Given the description of an element on the screen output the (x, y) to click on. 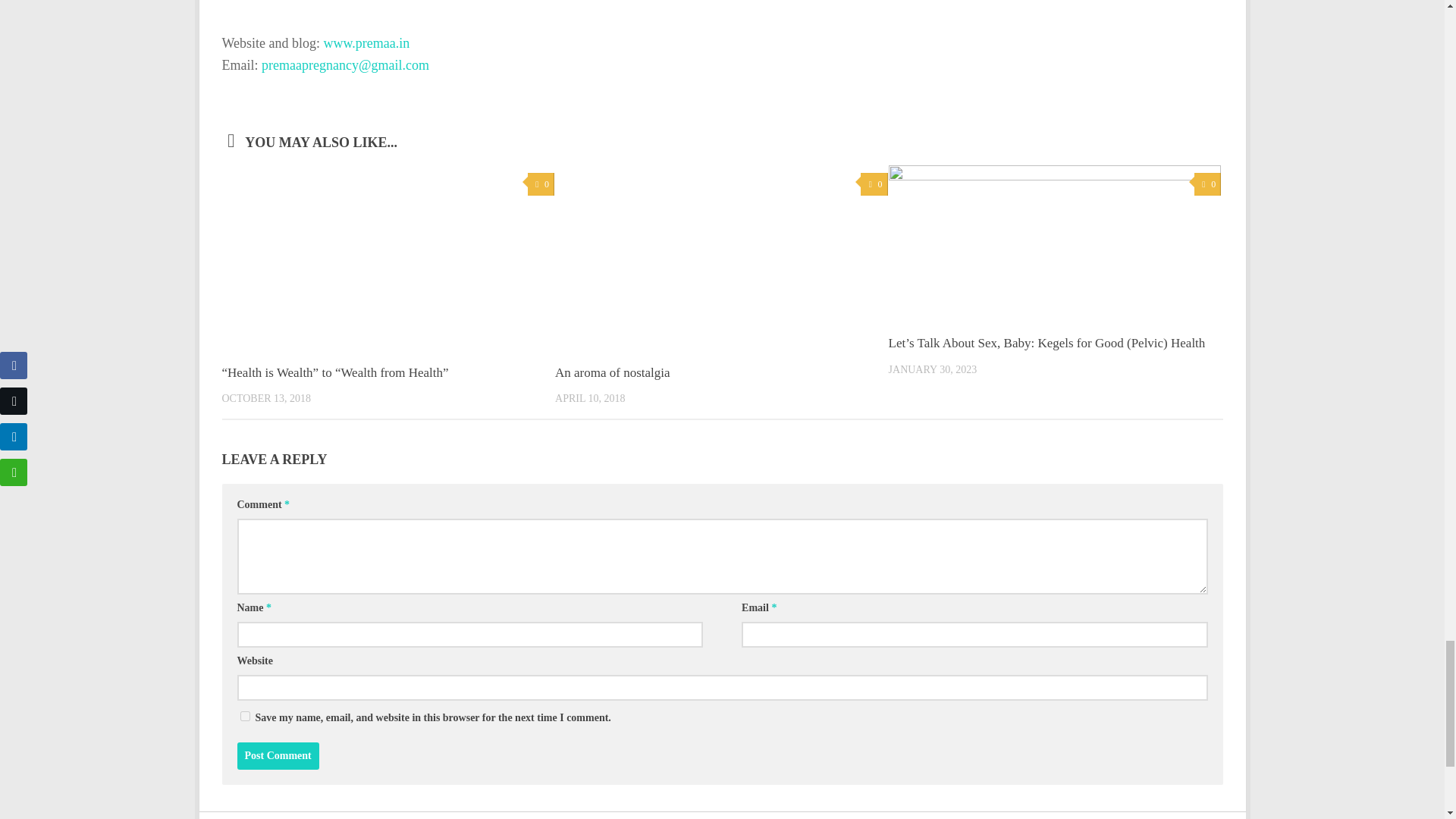
yes (244, 716)
Post Comment (276, 755)
www.premaa.in (366, 43)
